Given the description of an element on the screen output the (x, y) to click on. 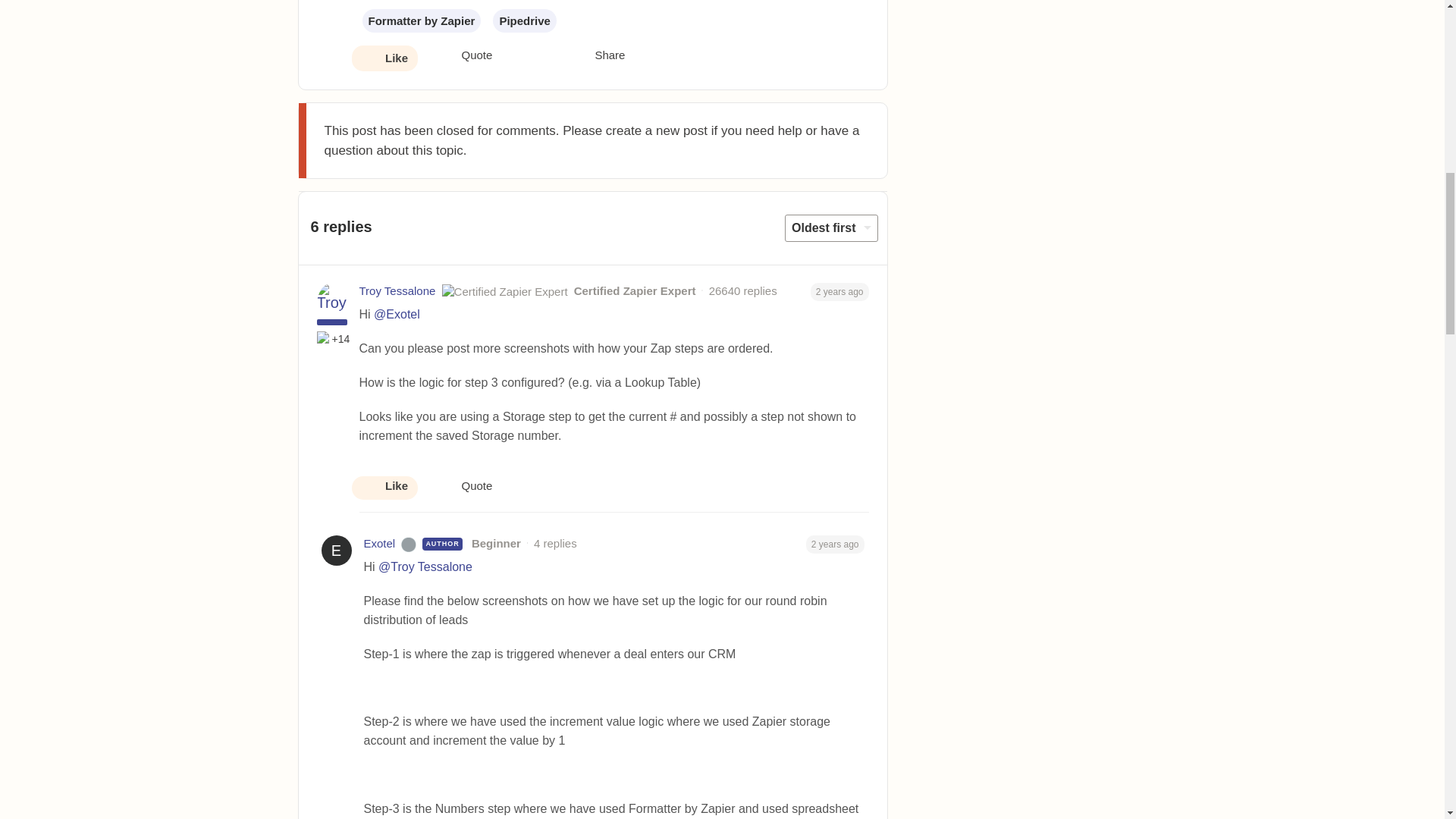
First Best Answer (324, 338)
Troy Tessalone (397, 291)
Like (383, 58)
Quote (464, 56)
Pipedrive (524, 20)
Exotel (380, 543)
Formatter by Zapier (421, 20)
